Given the description of an element on the screen output the (x, y) to click on. 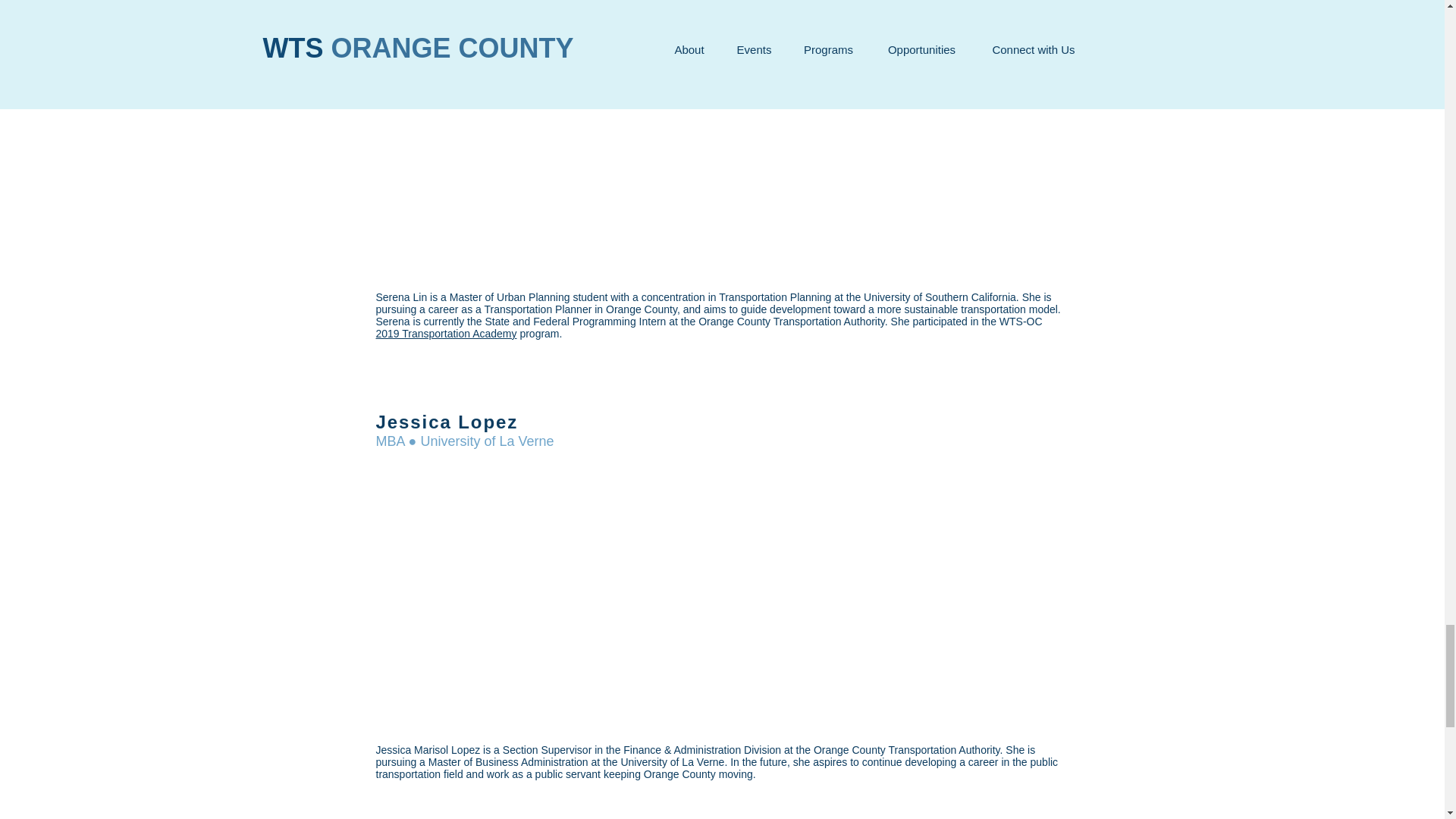
2019 Transportation Academy (445, 333)
